Given the description of an element on the screen output the (x, y) to click on. 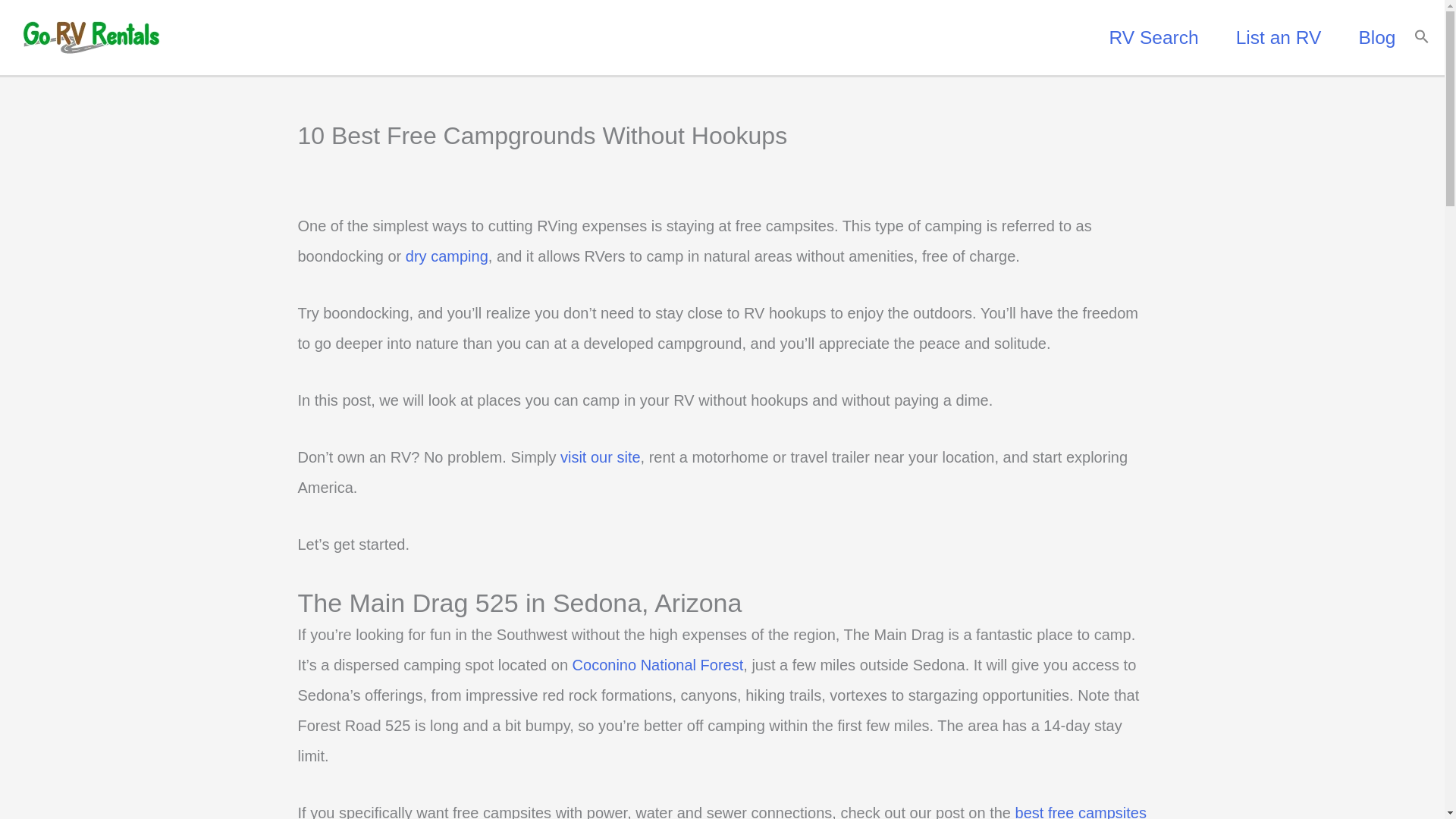
dry camping (446, 256)
List an RV (1278, 36)
Coconino National Forest (658, 664)
best free campsites with hookups (721, 811)
Blog (1376, 36)
RV Search (1153, 36)
visit our site (600, 457)
